Given the description of an element on the screen output the (x, y) to click on. 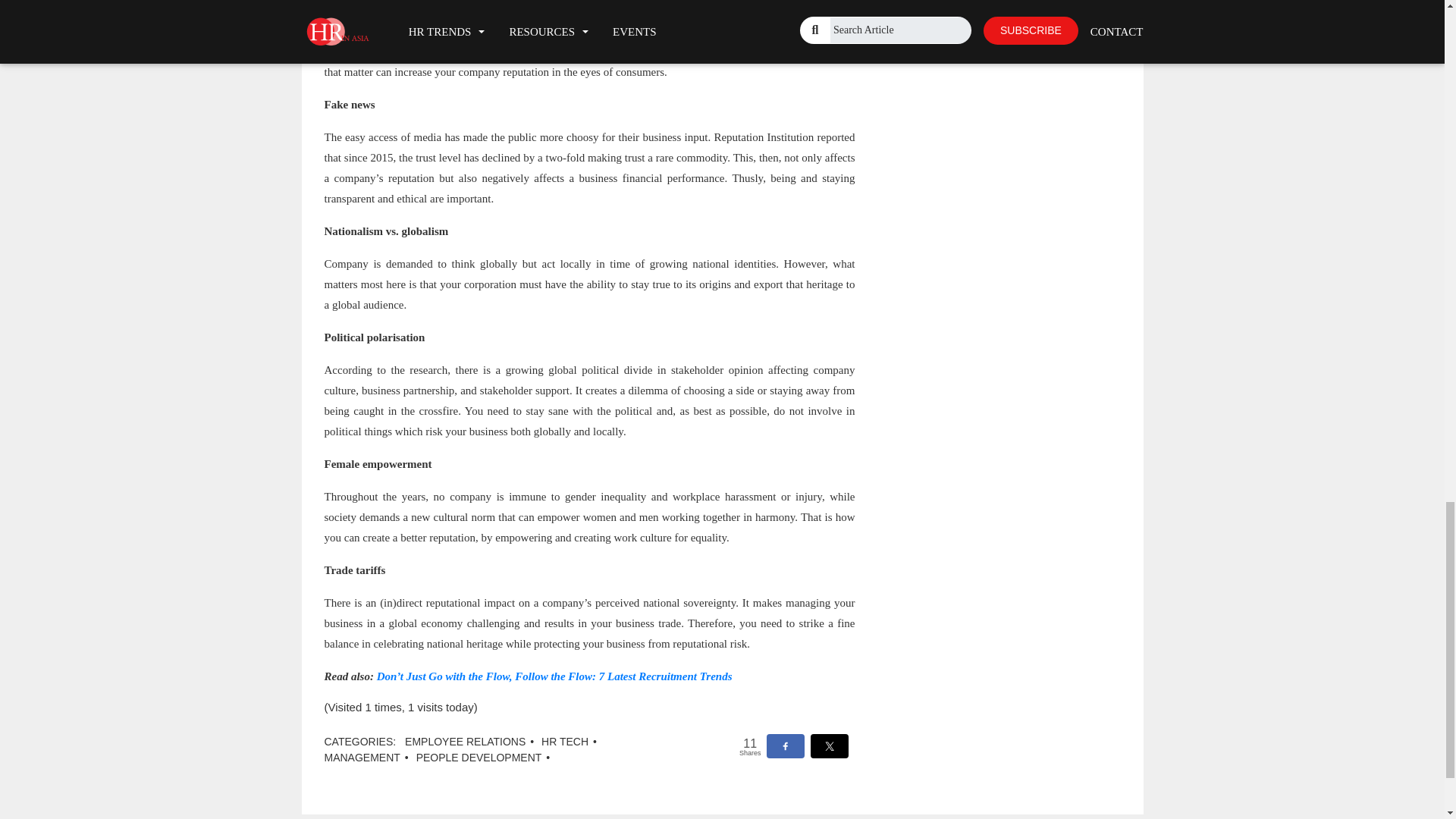
MANAGEMENT (362, 757)
EMPLOYEE RELATIONS (464, 741)
HR TECH (564, 741)
PEOPLE DEVELOPMENT (478, 757)
